Given the description of an element on the screen output the (x, y) to click on. 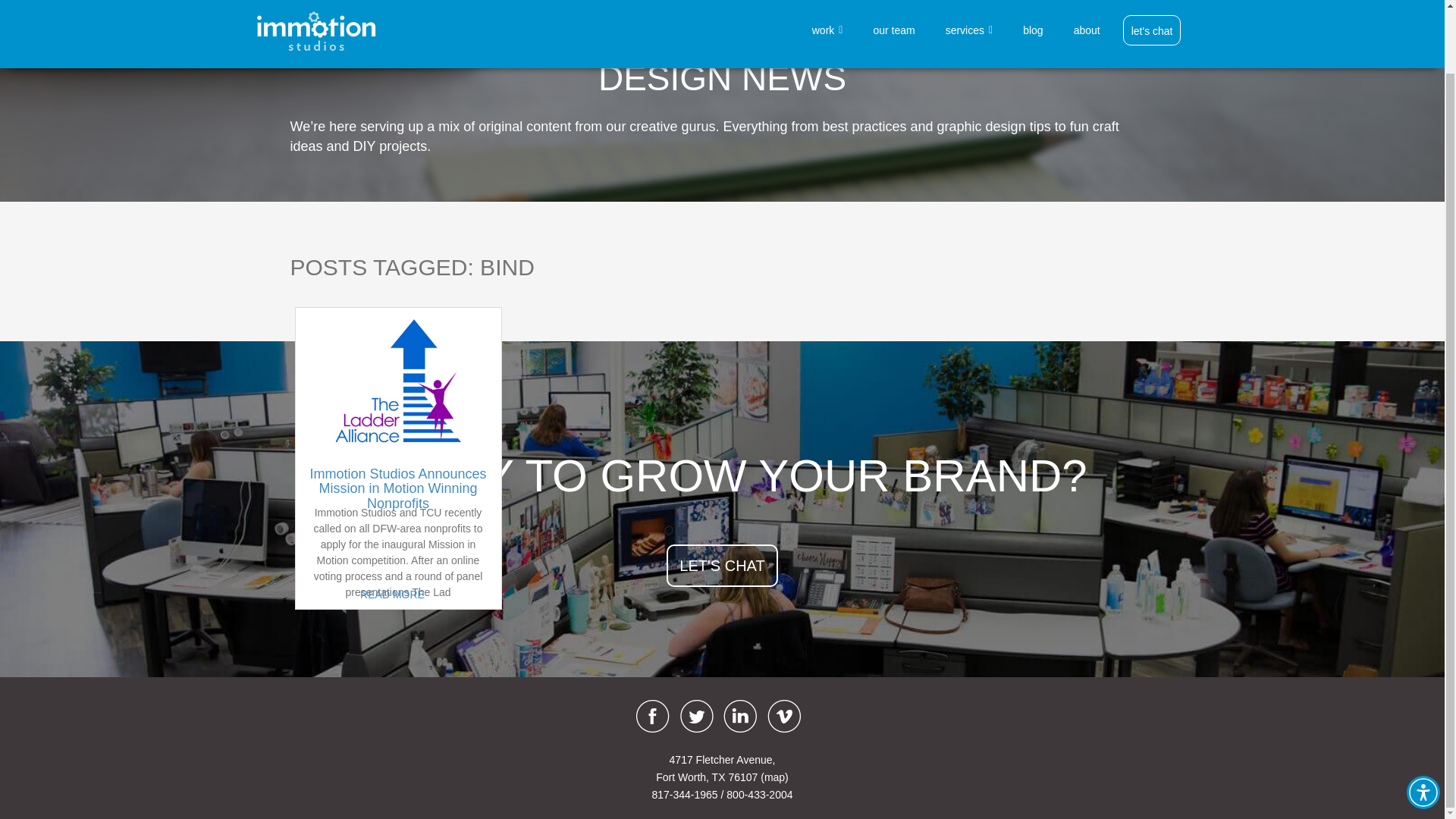
LET'S CHAT (721, 565)
817-344-1965 (683, 794)
800-433-2004 (759, 794)
Accessibility Menu (1422, 722)
READ MORE (392, 594)
